Given the description of an element on the screen output the (x, y) to click on. 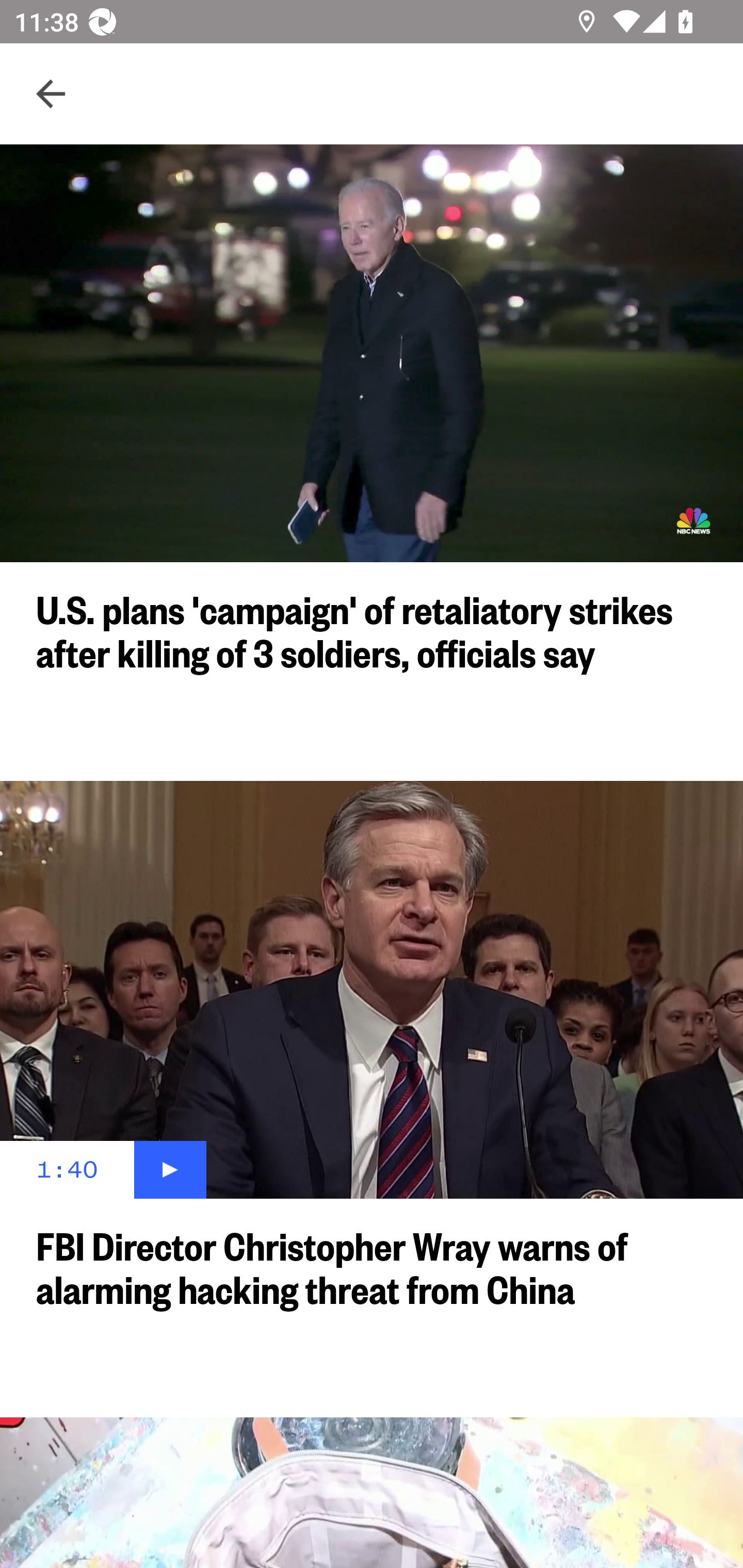
Navigate up (50, 93)
